Given the description of an element on the screen output the (x, y) to click on. 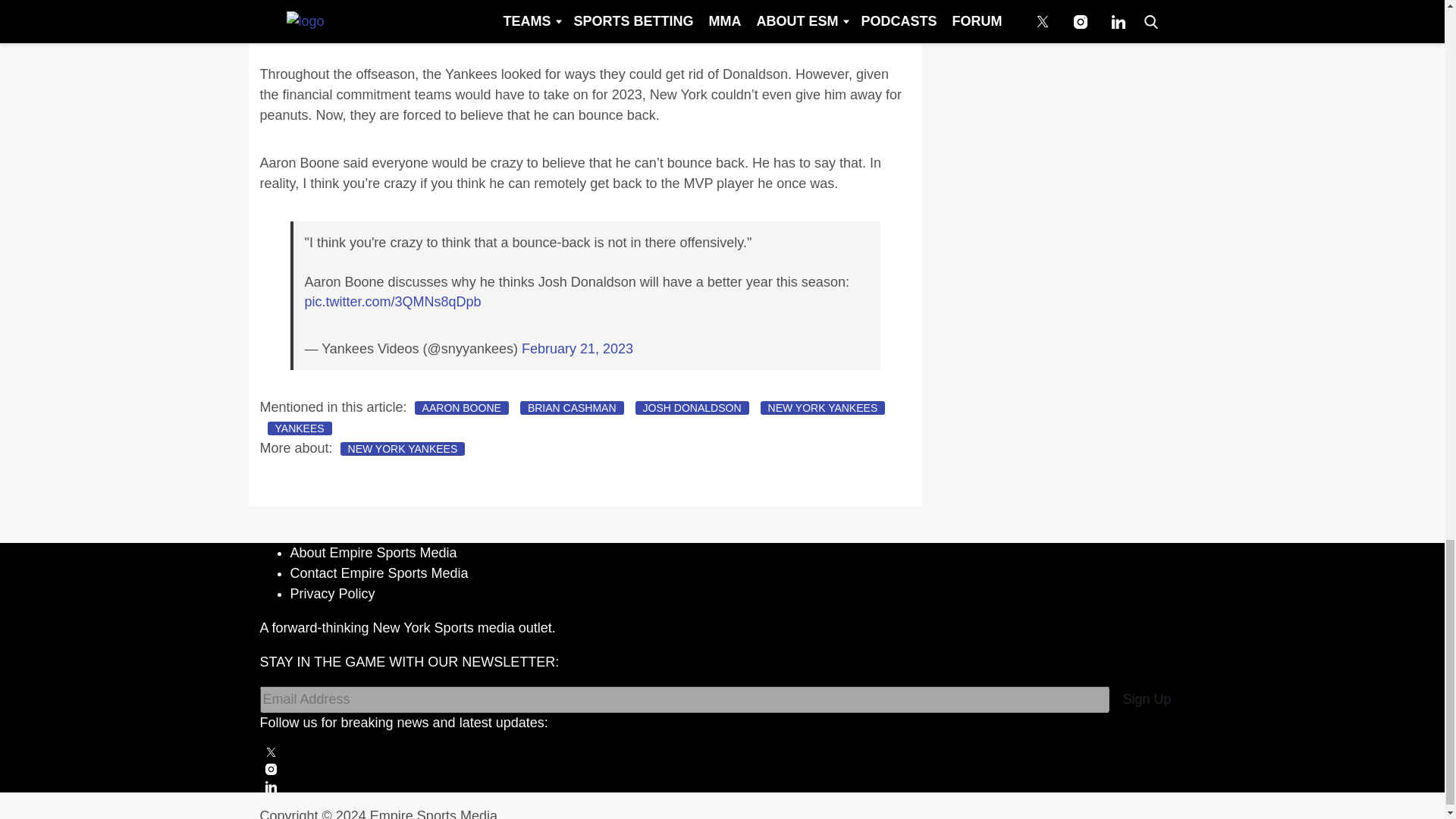
February 21, 2023 (577, 348)
Follow us on Twitter (722, 752)
Follow us on Instagram (722, 768)
BRIAN CASHMAN (571, 407)
Connect with us on LinkedIn (722, 786)
AARON BOONE (461, 407)
JOSH DONALDSON (691, 407)
